Given the description of an element on the screen output the (x, y) to click on. 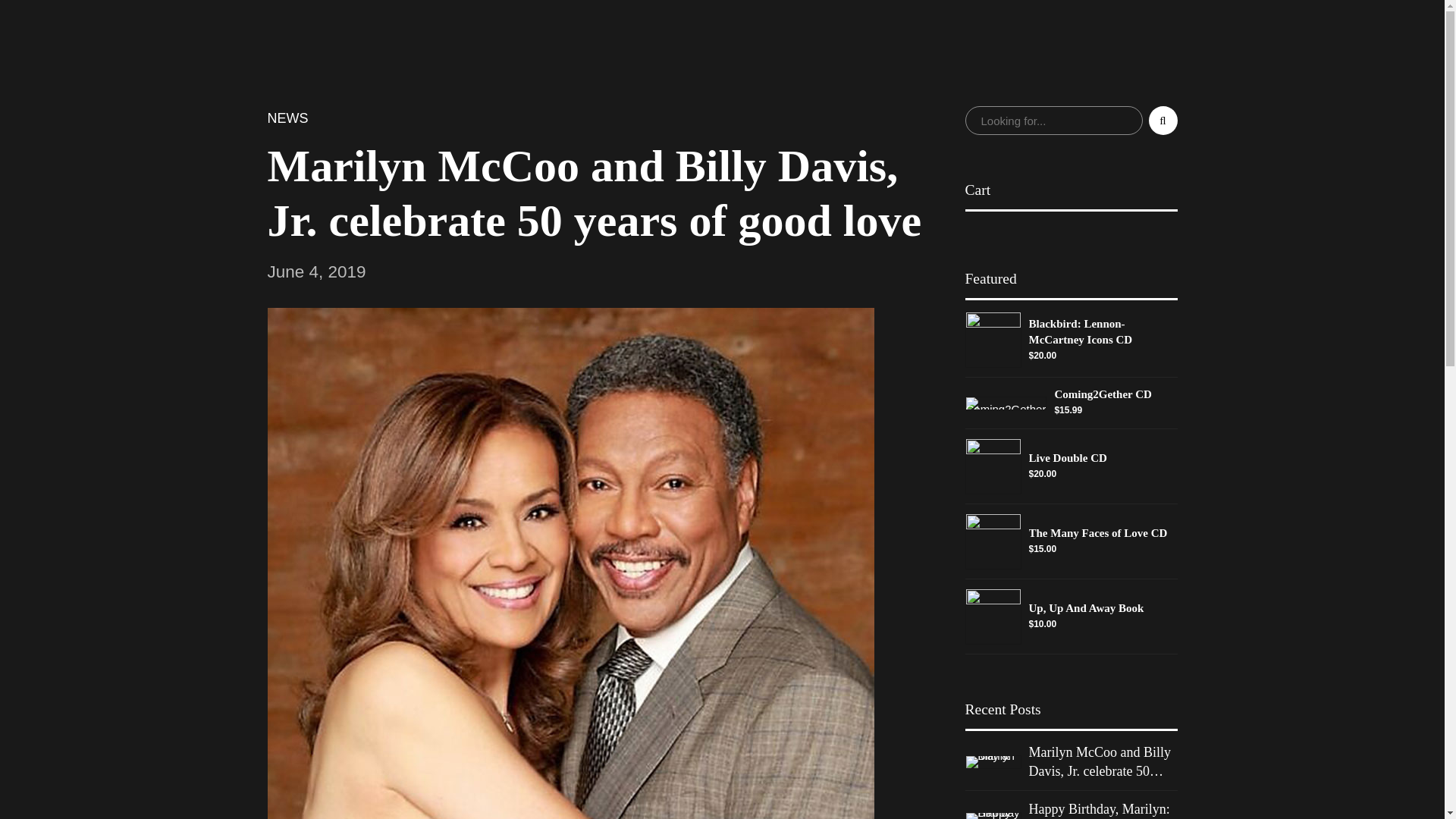
Blackbird: Lennon-McCartney Icons CD (991, 339)
NEWS (286, 118)
Blackbird: Lennon-McCartney Icons CD (1101, 332)
Coming2Gether CD (1004, 403)
Blackbird: Lennon-McCartney Icons CD (1101, 332)
